Given the description of an element on the screen output the (x, y) to click on. 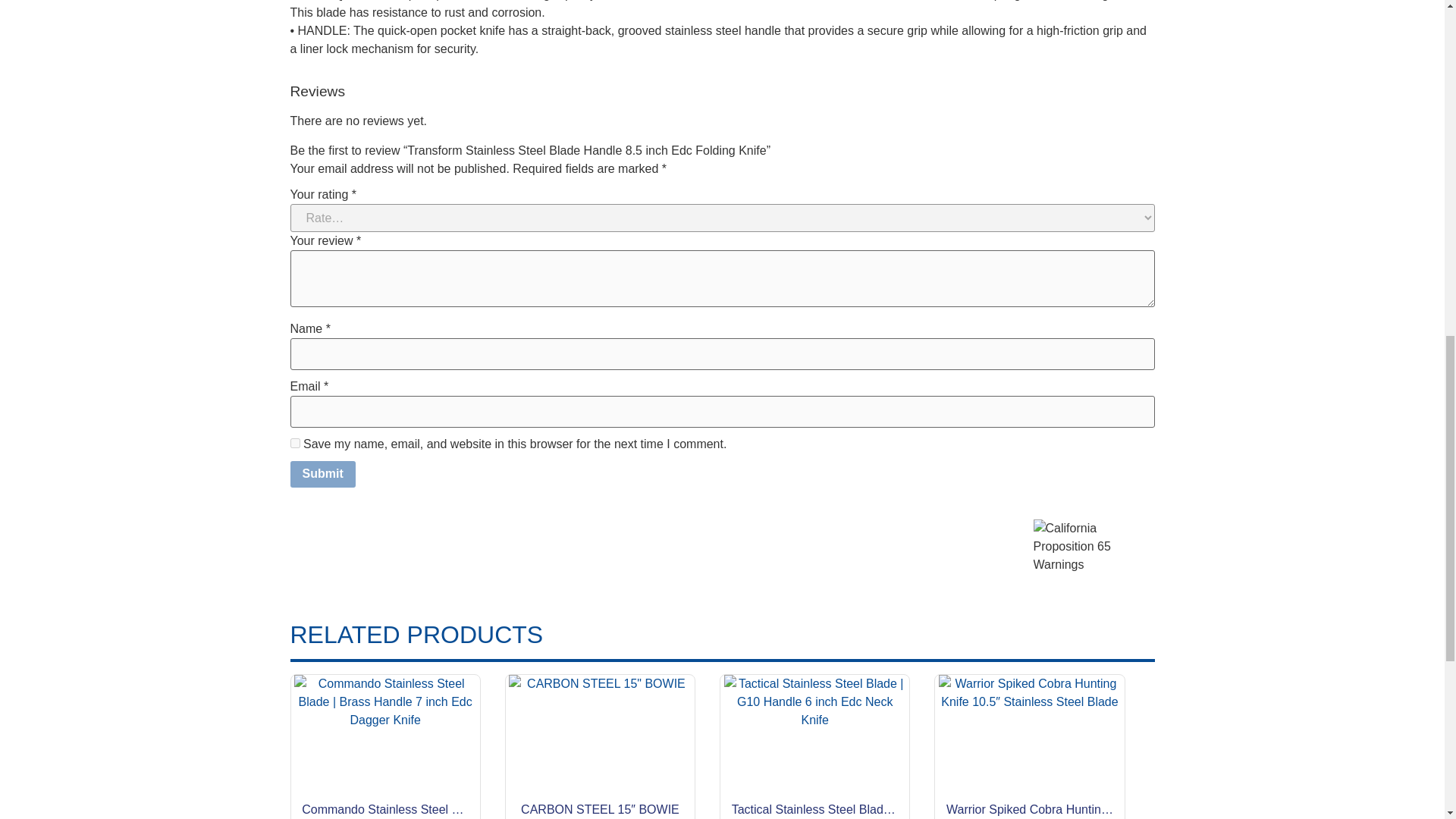
yes (294, 442)
Submit (322, 474)
